Given the description of an element on the screen output the (x, y) to click on. 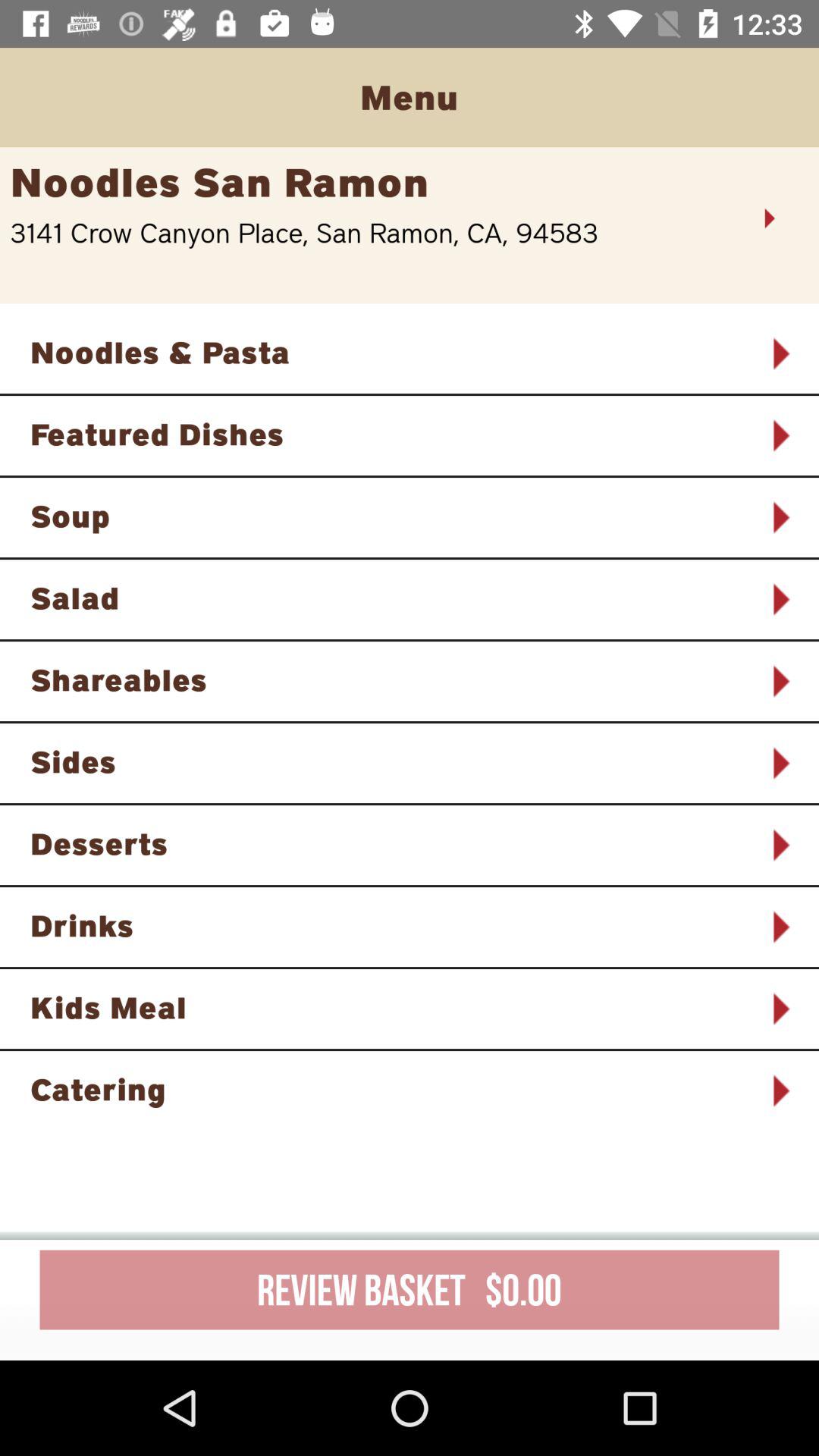
open the icon next to sides (779, 763)
